Given the description of an element on the screen output the (x, y) to click on. 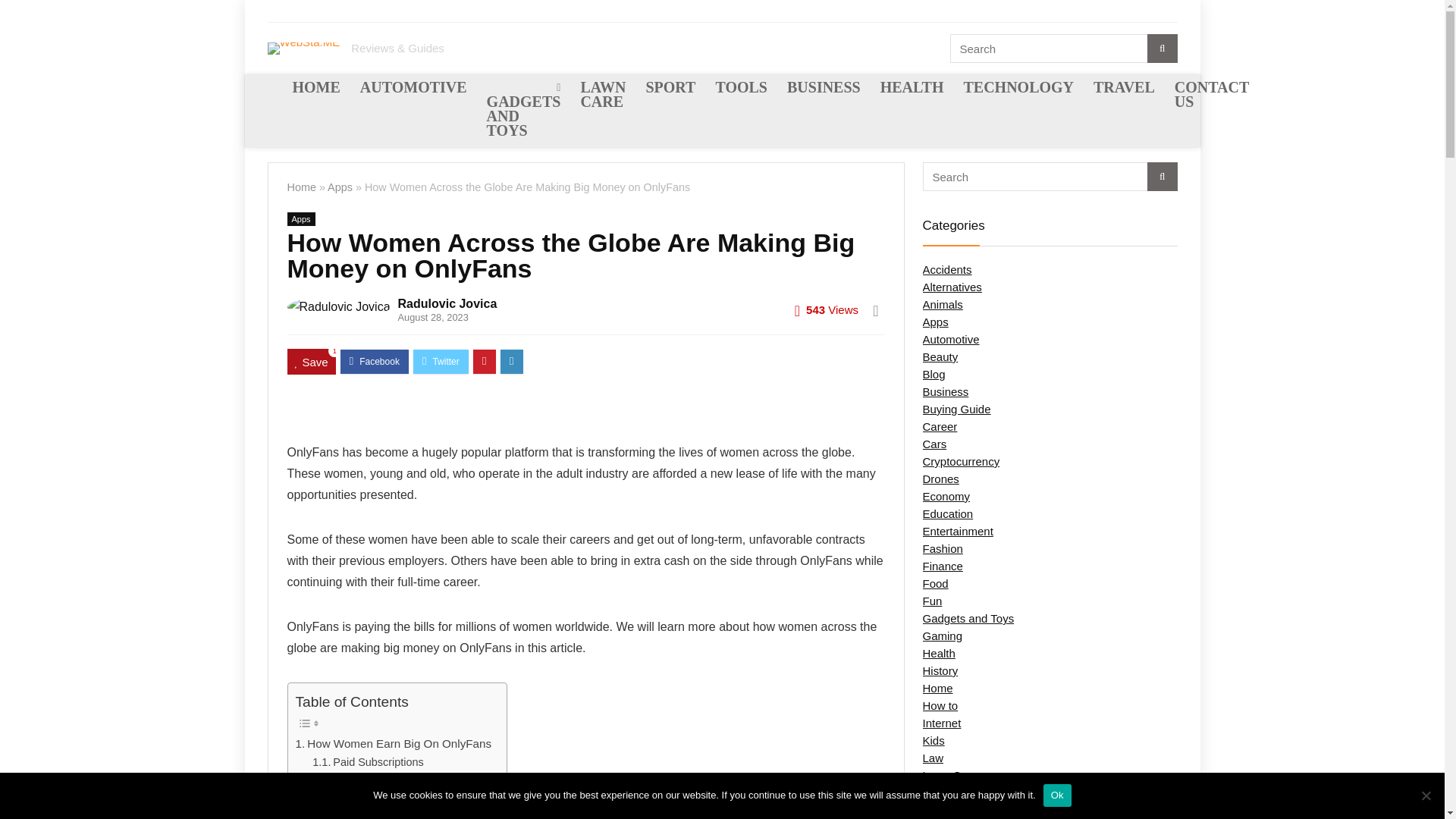
Private Messaging (368, 779)
LAWN CARE (602, 95)
Radulovic Jovica (447, 303)
How Women Earn Big On OnlyFans (393, 743)
CONTACT US (1211, 95)
Paid Subscriptions (368, 762)
SPORT (669, 88)
AUTOMOTIVE (413, 88)
Tips (333, 796)
Home (300, 186)
